Given the description of an element on the screen output the (x, y) to click on. 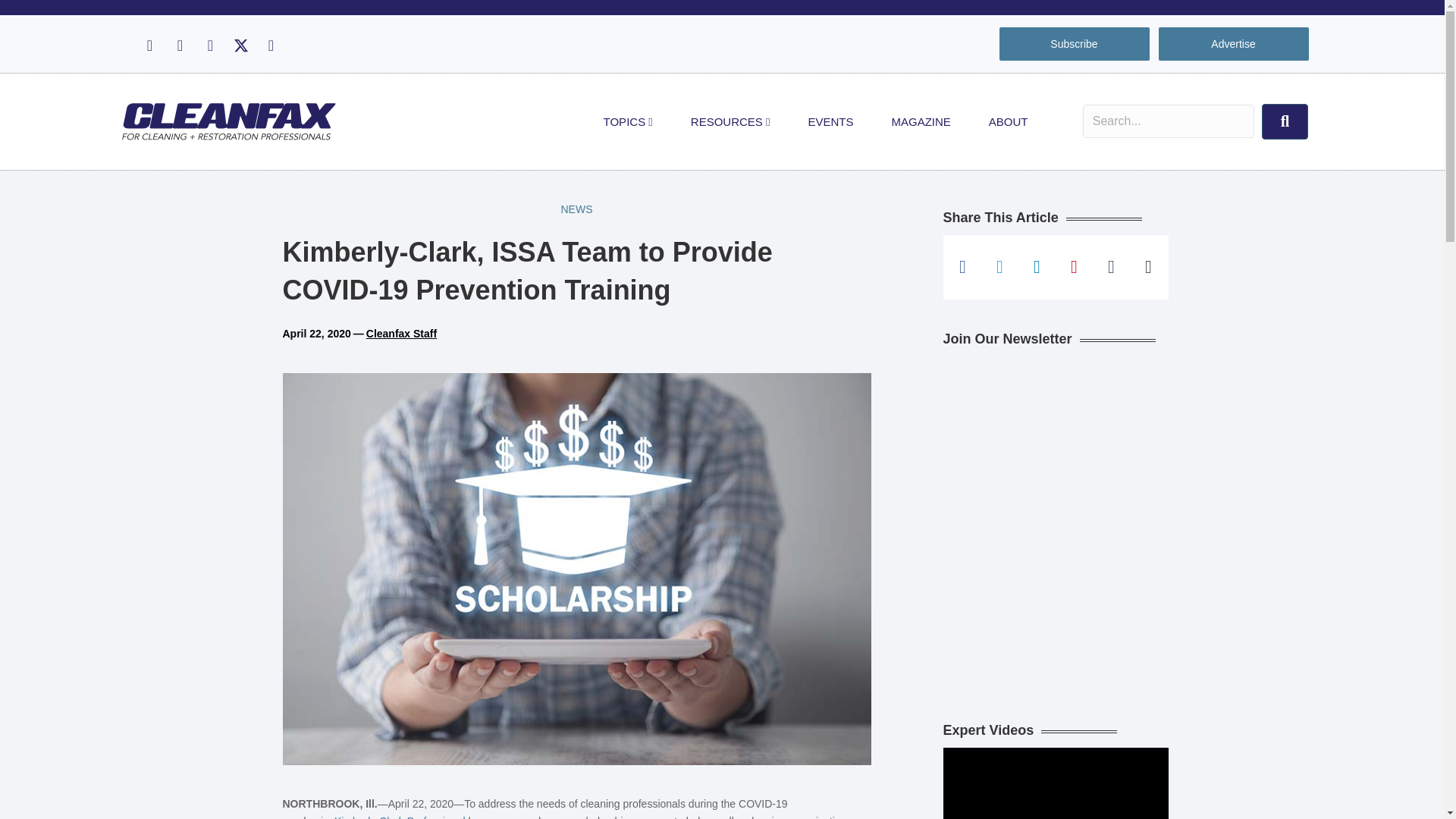
TOPICS (628, 121)
YouTube (270, 45)
MAGAZINE (920, 121)
Facebook (149, 45)
Cleanfax Staff (401, 333)
Advertise (1232, 43)
Subscribe (1073, 43)
Instagram (179, 45)
NEWS (575, 209)
